Given the description of an element on the screen output the (x, y) to click on. 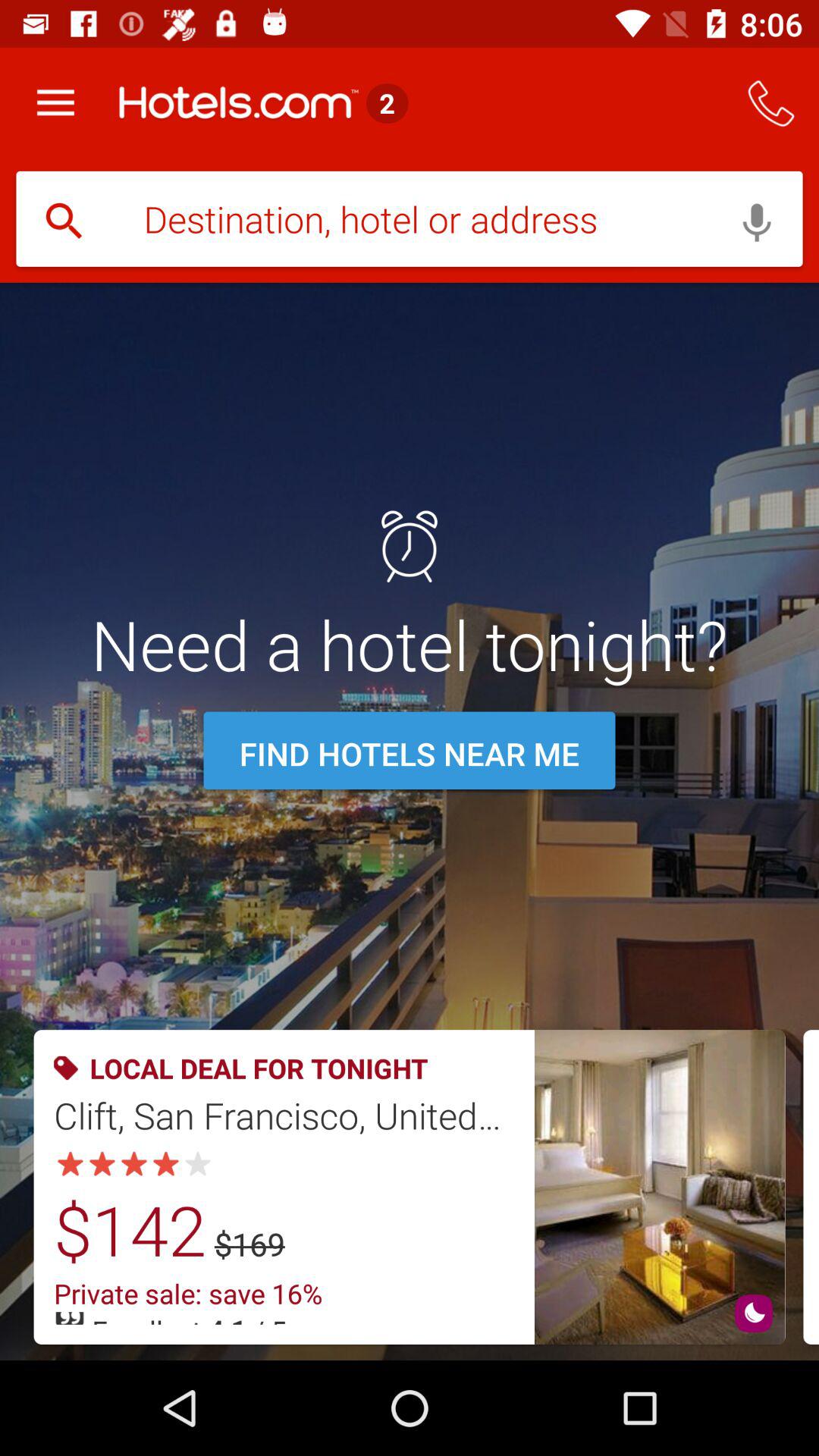
jump until the destination hotel or item (409, 220)
